Given the description of an element on the screen output the (x, y) to click on. 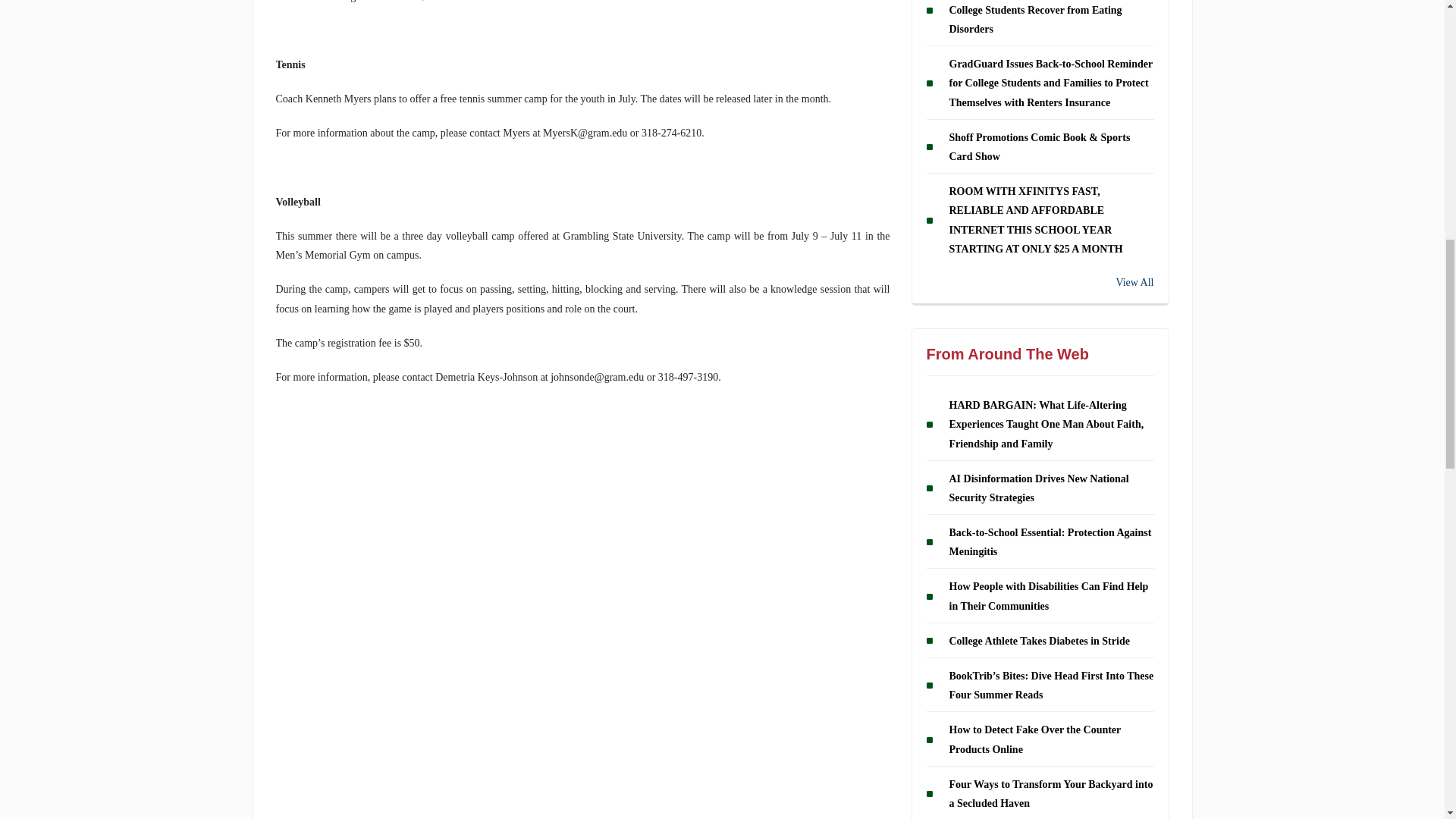
Back-to-School Essential: Protection Against Meningitis (1050, 542)
College Athlete Takes Diabetes in Stride (1039, 641)
College Athlete Takes Diabetes in Stride (1039, 641)
AI Disinformation Drives New National Security Strategies (1039, 488)
AI Disinformation Drives New National Security Strategies (1039, 488)
View All (1040, 281)
